Given the description of an element on the screen output the (x, y) to click on. 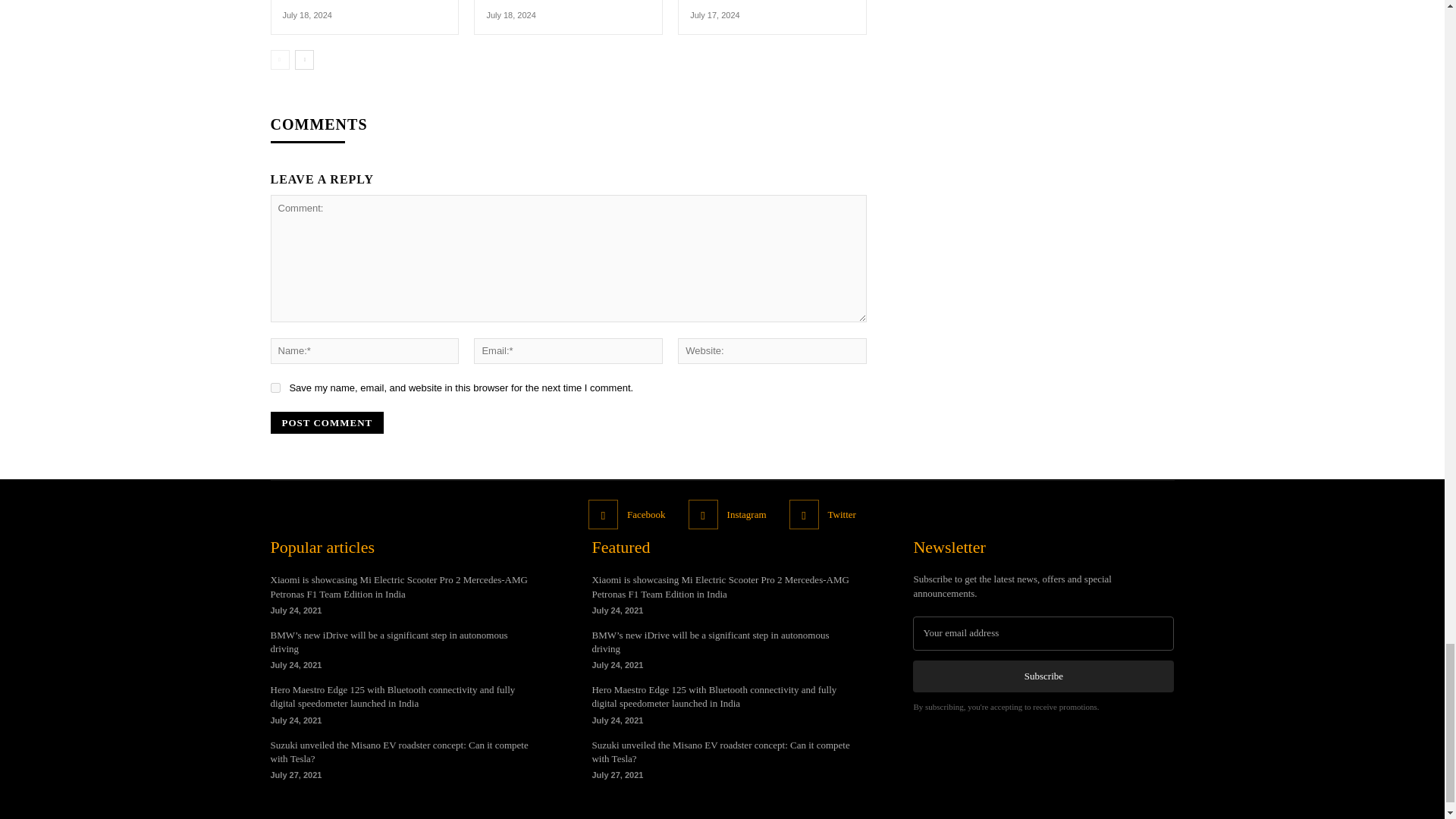
yes (274, 388)
Post Comment (326, 422)
